Given the description of an element on the screen output the (x, y) to click on. 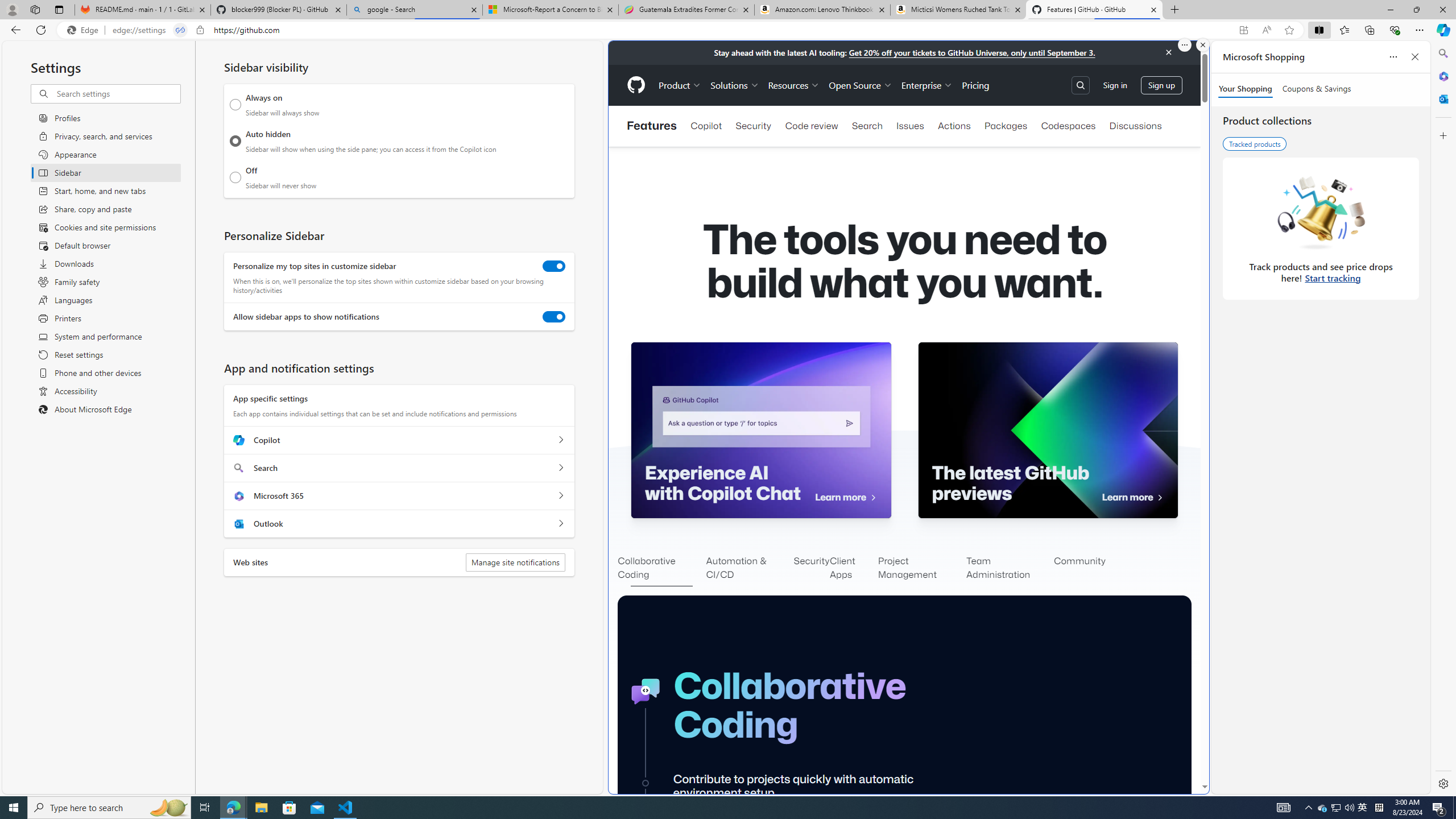
Pricing (975, 84)
Product (679, 84)
Class: octicon arrow-symbol-mktg octicon (1159, 497)
Search settings (117, 93)
Homepage (635, 85)
Personalize my top sites in customize sidebar (553, 265)
Always on Sidebar will always show (235, 104)
Collaborative Coding (661, 568)
Enterprise (927, 84)
